Given the description of an element on the screen output the (x, y) to click on. 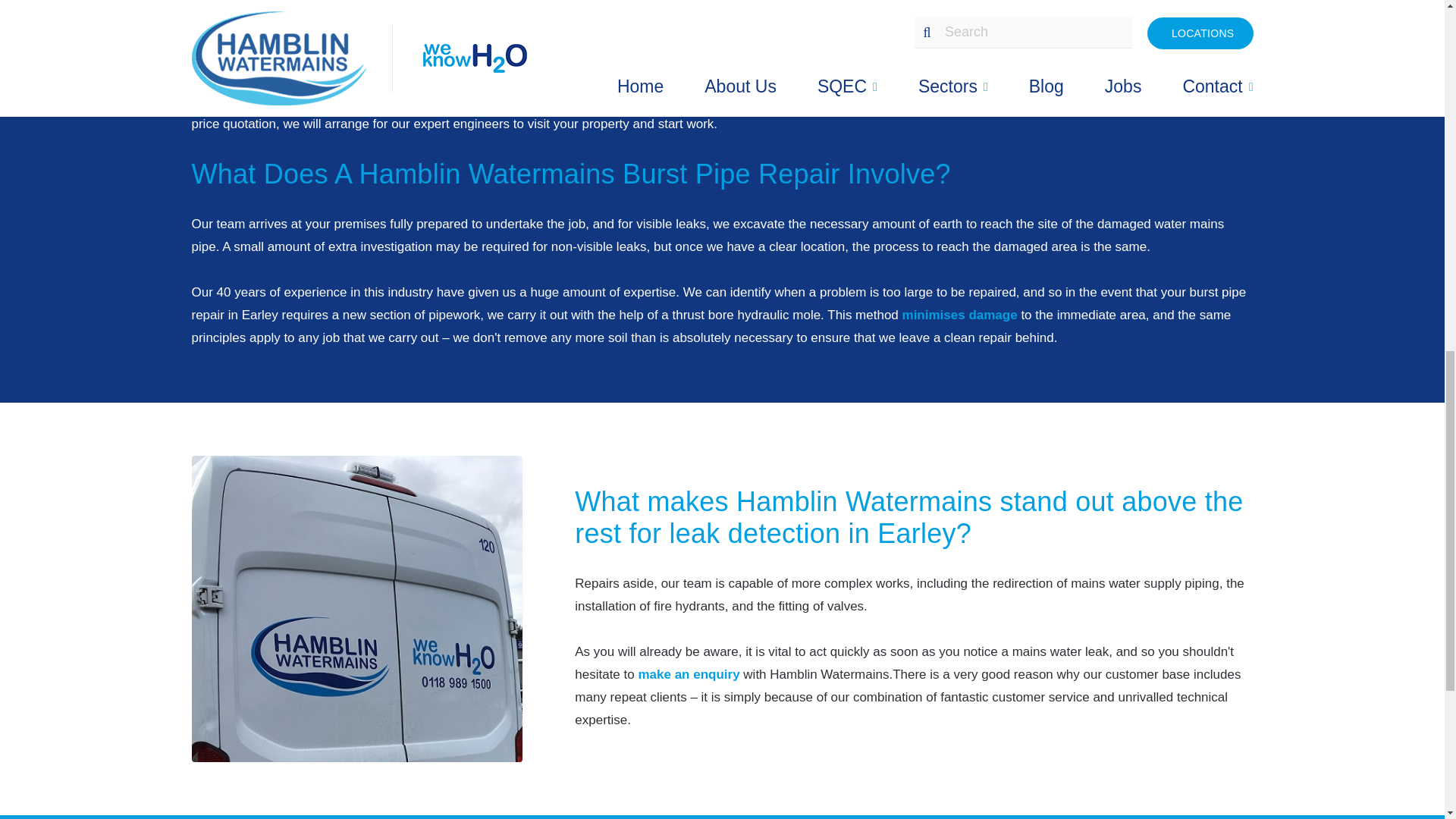
leak detection in Reading (831, 101)
minimises damage (959, 314)
make an enquiry (688, 674)
